Given the description of an element on the screen output the (x, y) to click on. 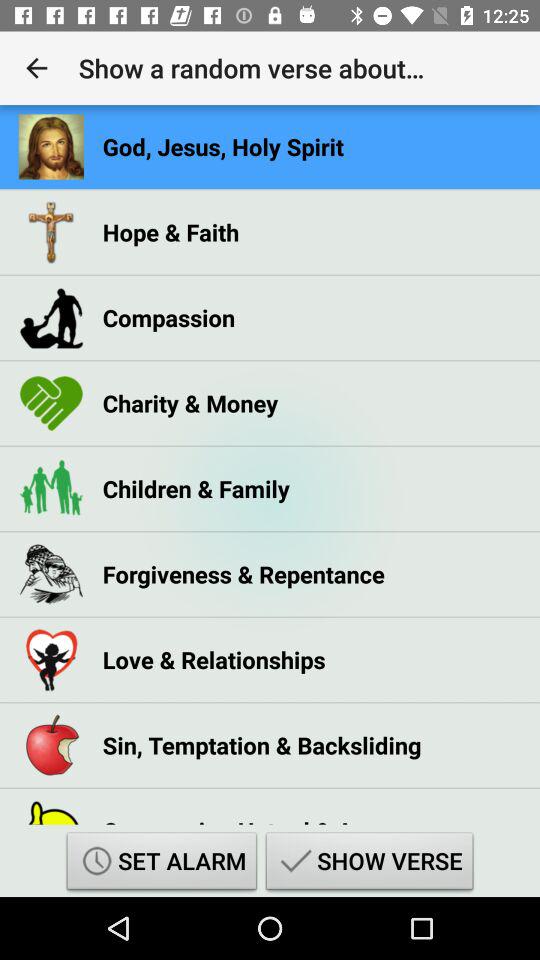
choose icon above set alarm (251, 814)
